Given the description of an element on the screen output the (x, y) to click on. 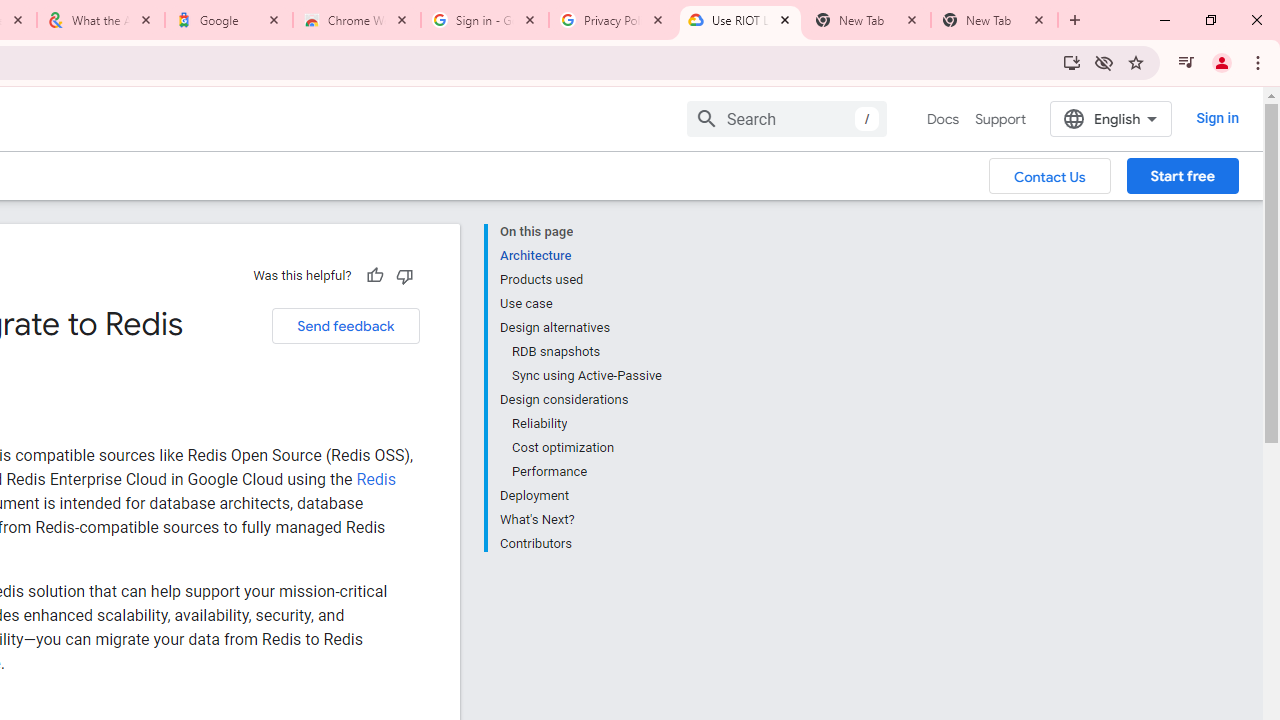
RDB snapshots (585, 351)
Not helpful (404, 275)
Helpful (374, 275)
Contact Us (1050, 175)
Sync using Active-Passive (585, 376)
Chrome Web Store - Color themes by Chrome (357, 20)
Google (229, 20)
English (1110, 118)
